Given the description of an element on the screen output the (x, y) to click on. 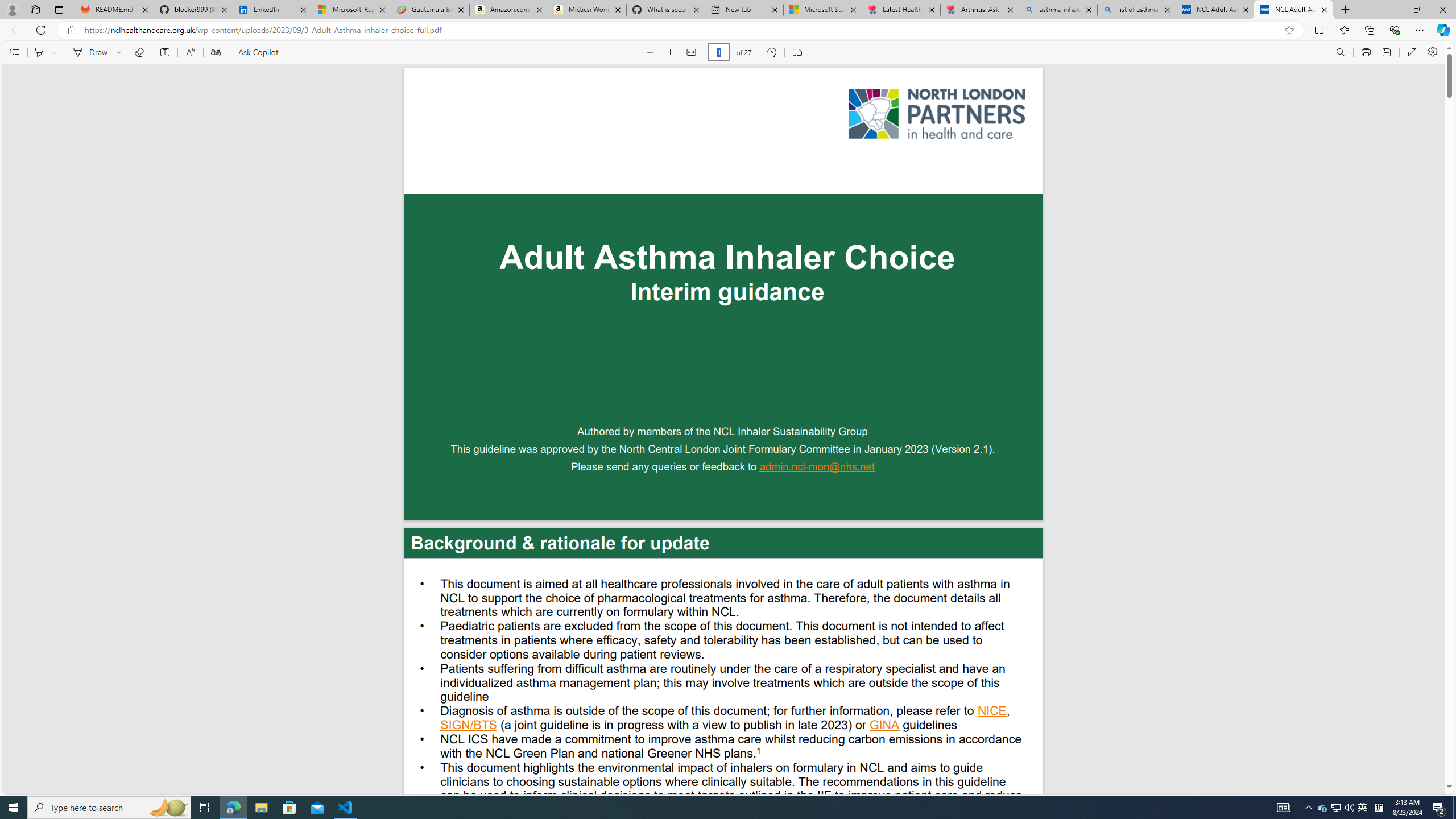
Select ink properties (120, 52)
Zoom in (Ctrl+Plus key) (671, 52)
Fit to width (Ctrl+\) (691, 52)
Draw (88, 52)
Rotate (Ctrl+]) (771, 52)
